Given the description of an element on the screen output the (x, y) to click on. 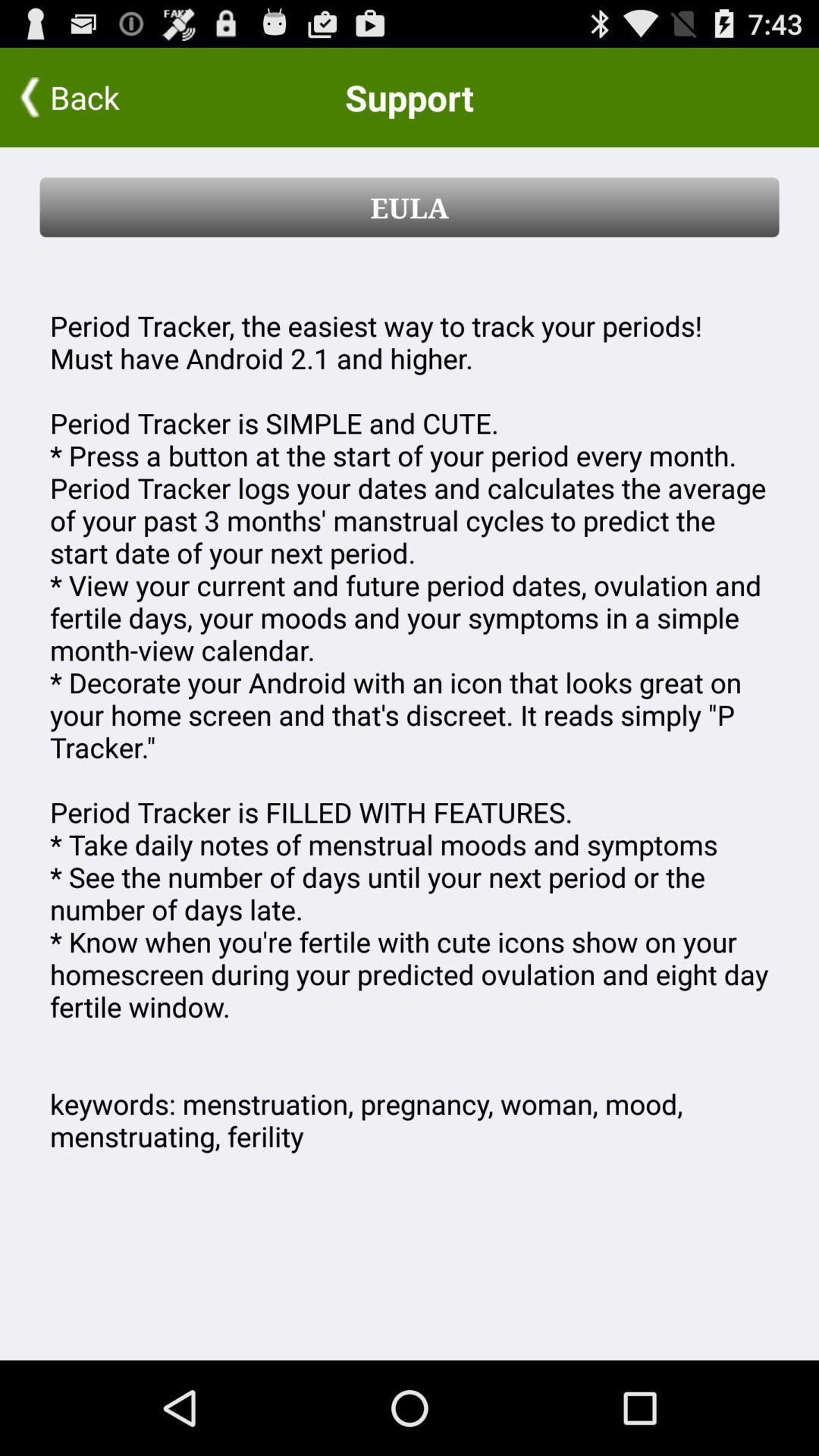
select the icon above period tracker the app (409, 207)
